Given the description of an element on the screen output the (x, y) to click on. 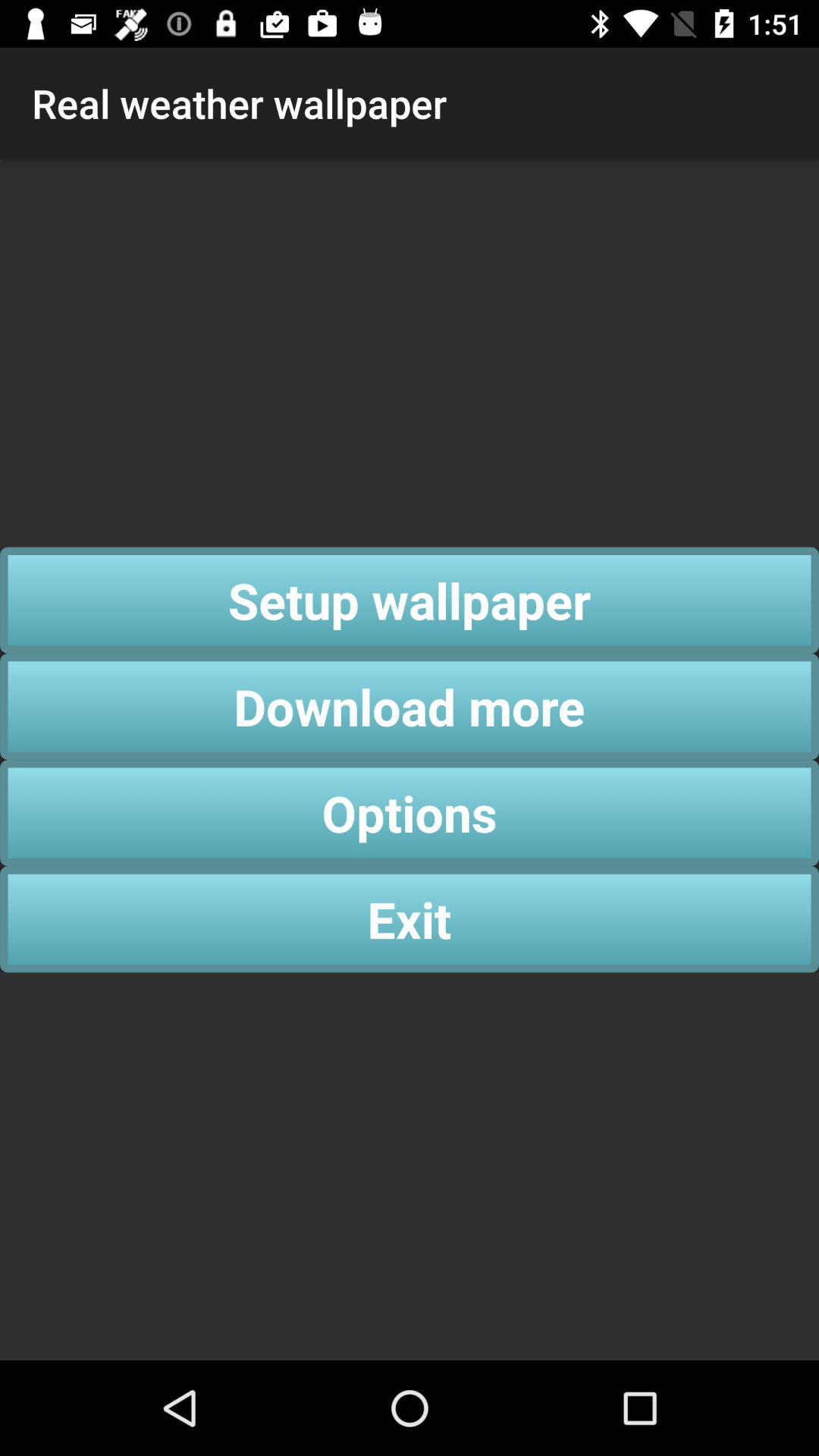
press button above the download more button (409, 600)
